Given the description of an element on the screen output the (x, y) to click on. 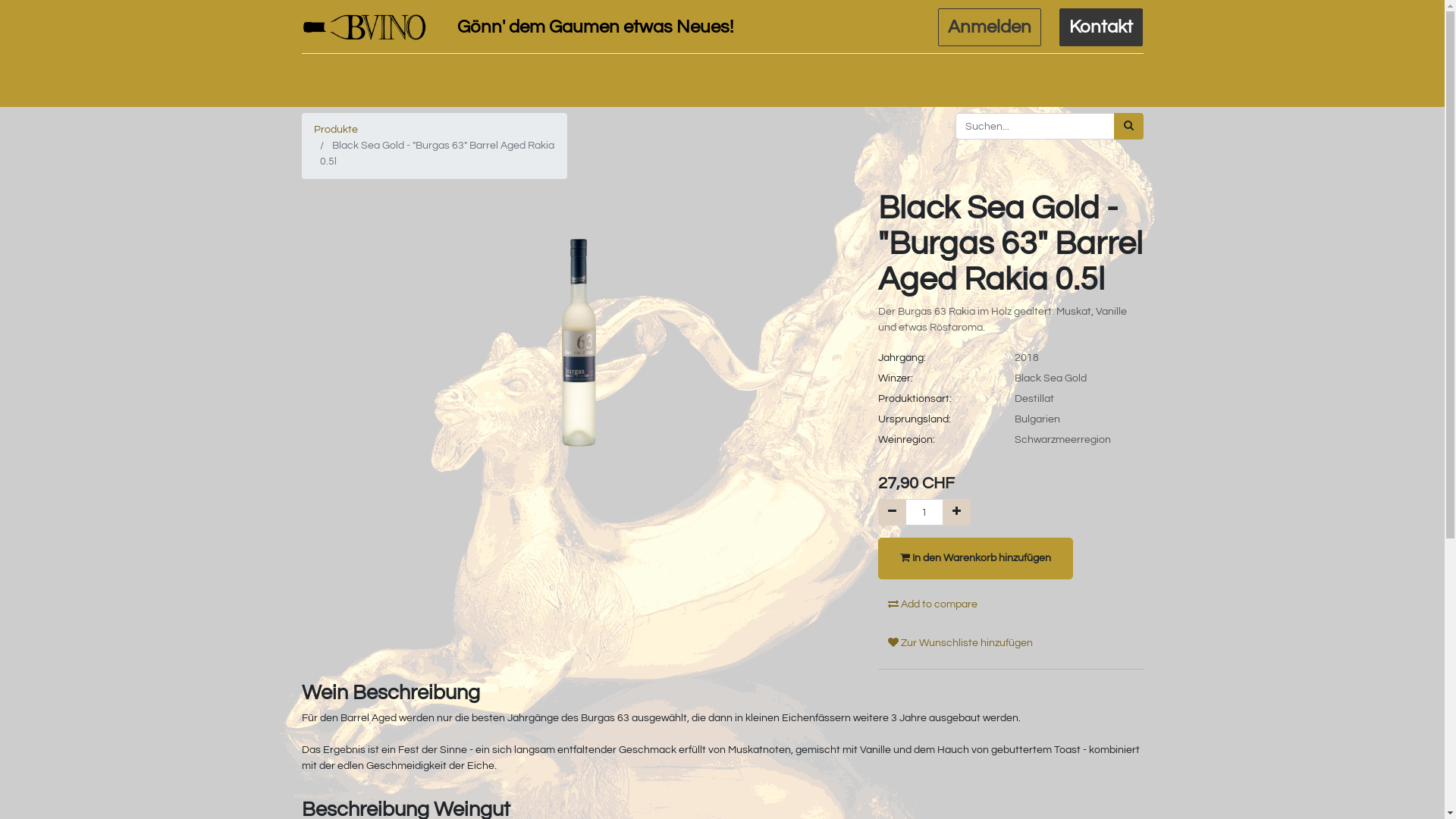
Entfernen Element type: hover (892, 511)
Add to compare Element type: text (932, 604)
Anmelden Element type: text (989, 27)
Kontakt Element type: text (1100, 27)
B!Vino - Bulgarischer Wein Element type: hover (364, 27)
Produkte Element type: text (335, 129)
Suchen Element type: hover (1127, 125)
